Given the description of an element on the screen output the (x, y) to click on. 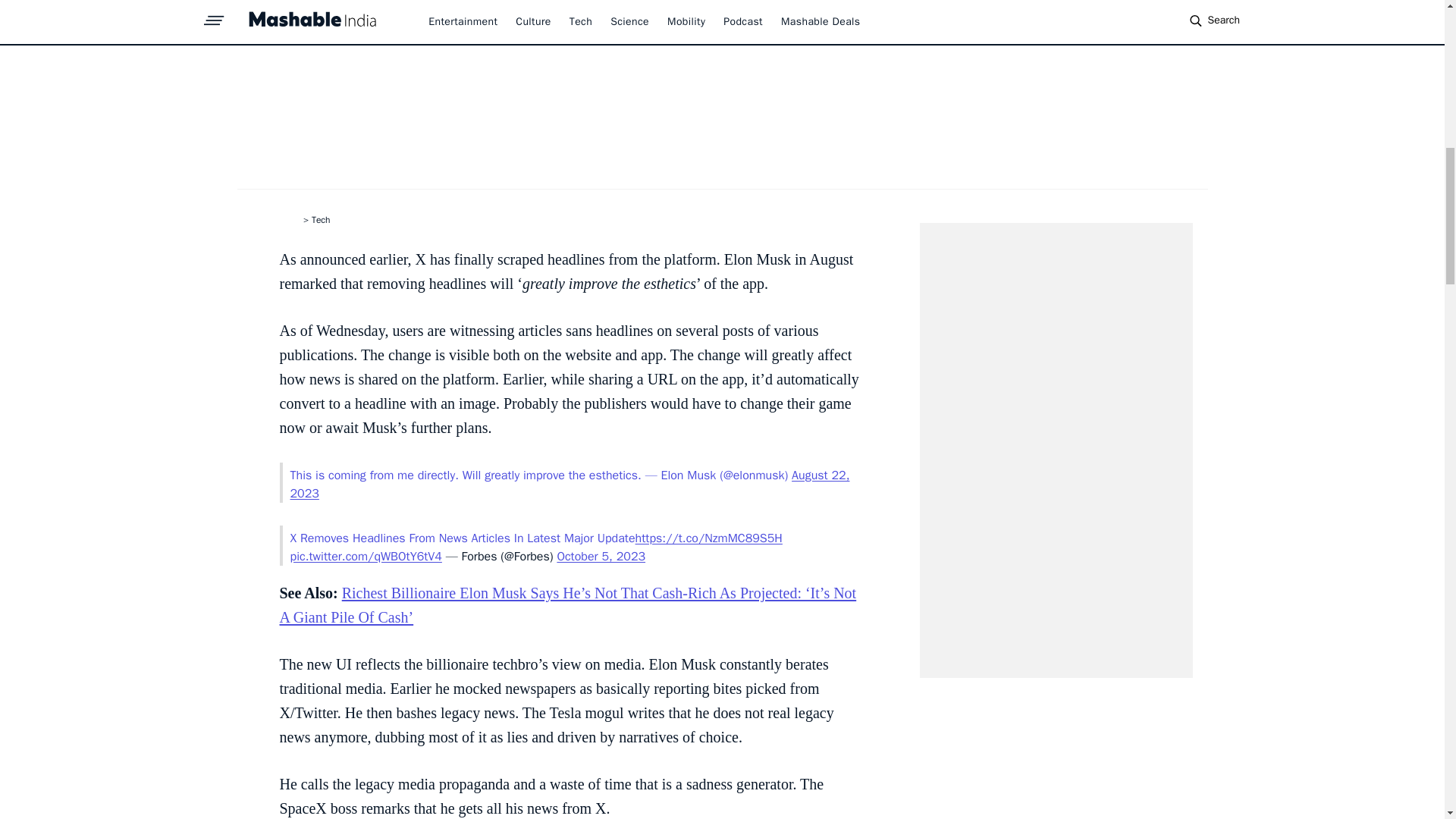
August 22, 2023 (568, 484)
October 5, 2023 (600, 556)
